Given the description of an element on the screen output the (x, y) to click on. 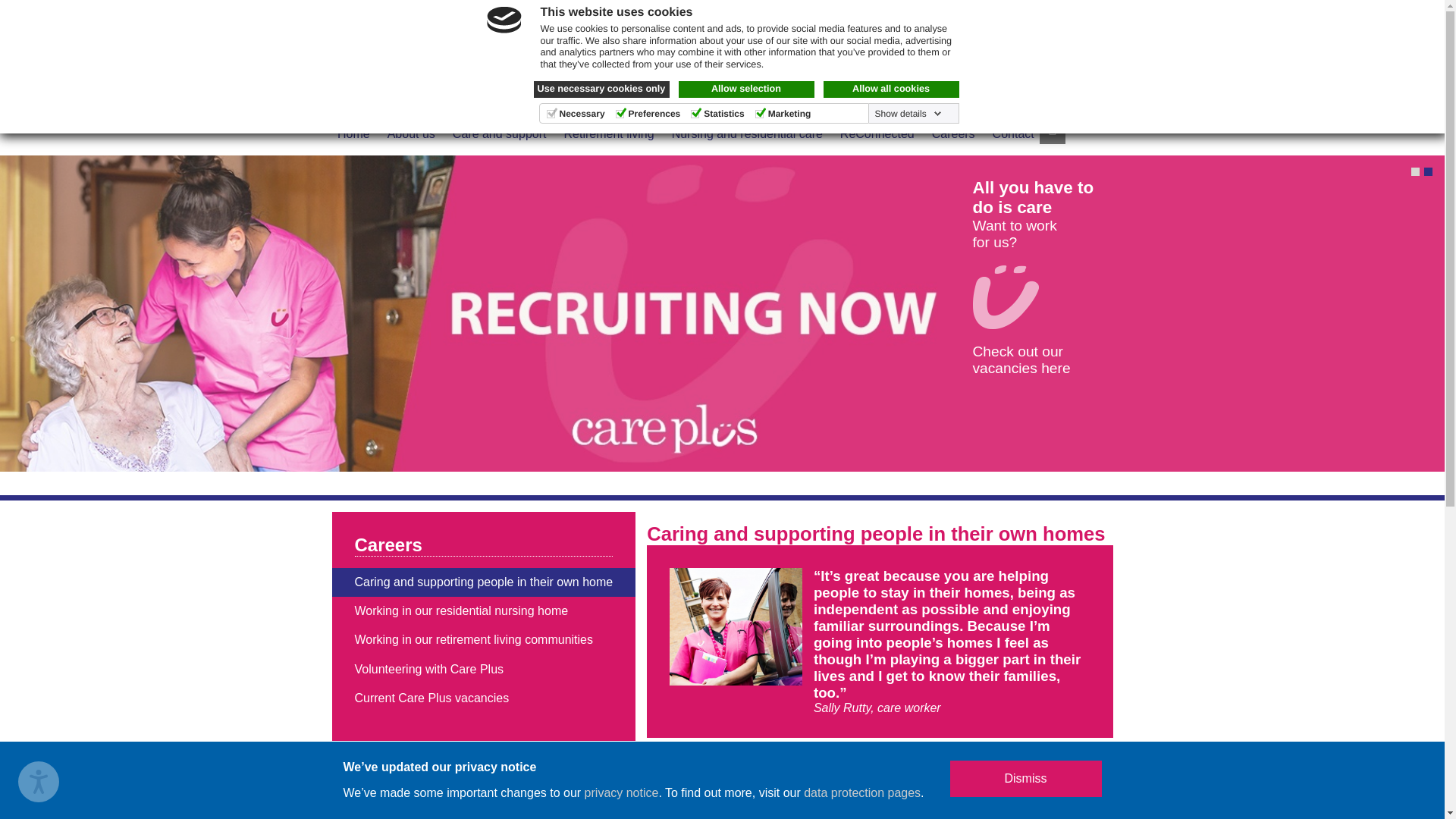
Allow all cookies (891, 89)
Allow selection (745, 89)
Use necessary cookies only (601, 89)
Listen with the ReachDeck Toolbar (38, 781)
Show details (908, 113)
